Given the description of an element on the screen output the (x, y) to click on. 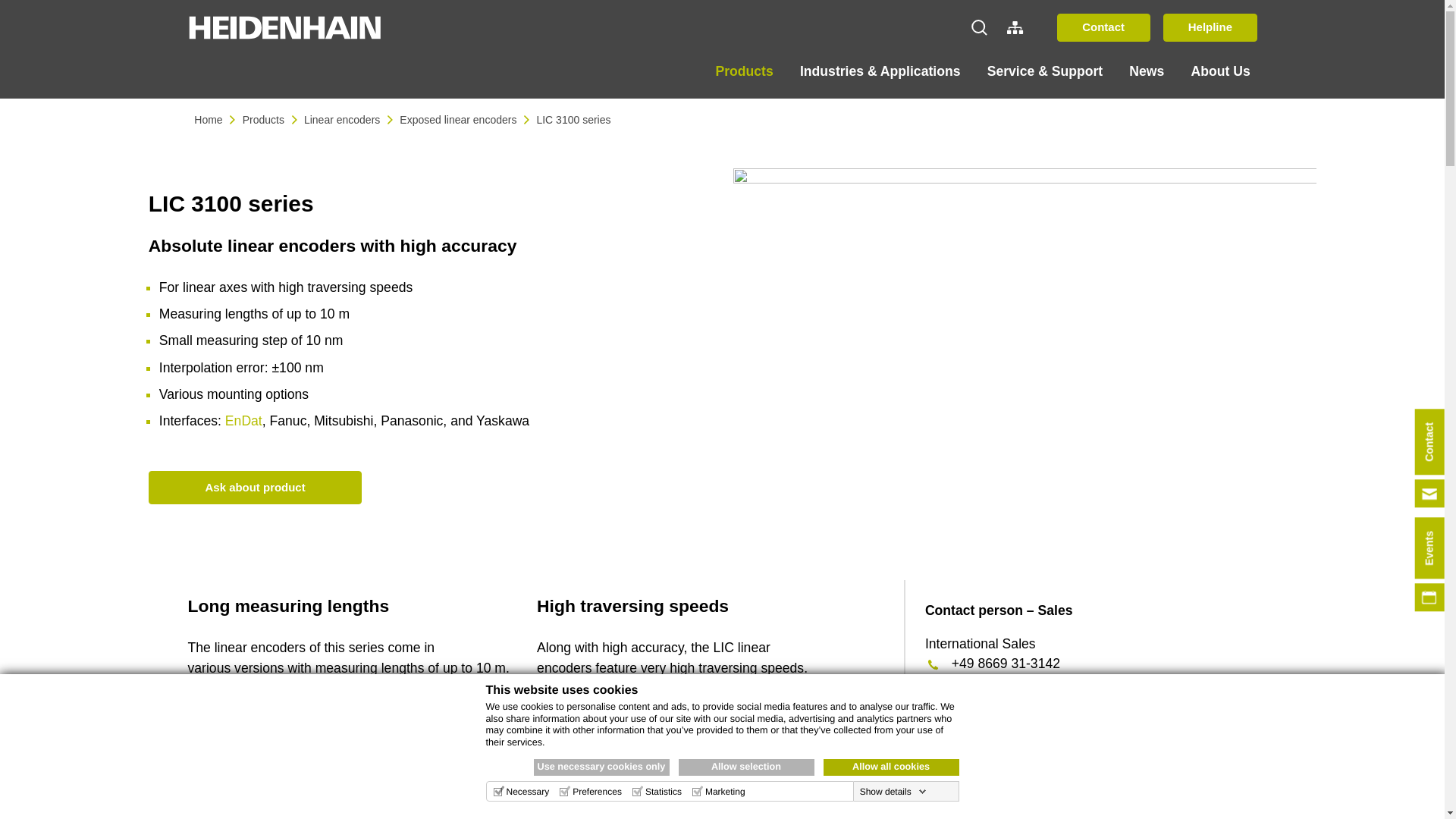
Allow selection (745, 767)
Show details (893, 791)
Allow all cookies (891, 767)
Use necessary cookies only (601, 767)
